Given the description of an element on the screen output the (x, y) to click on. 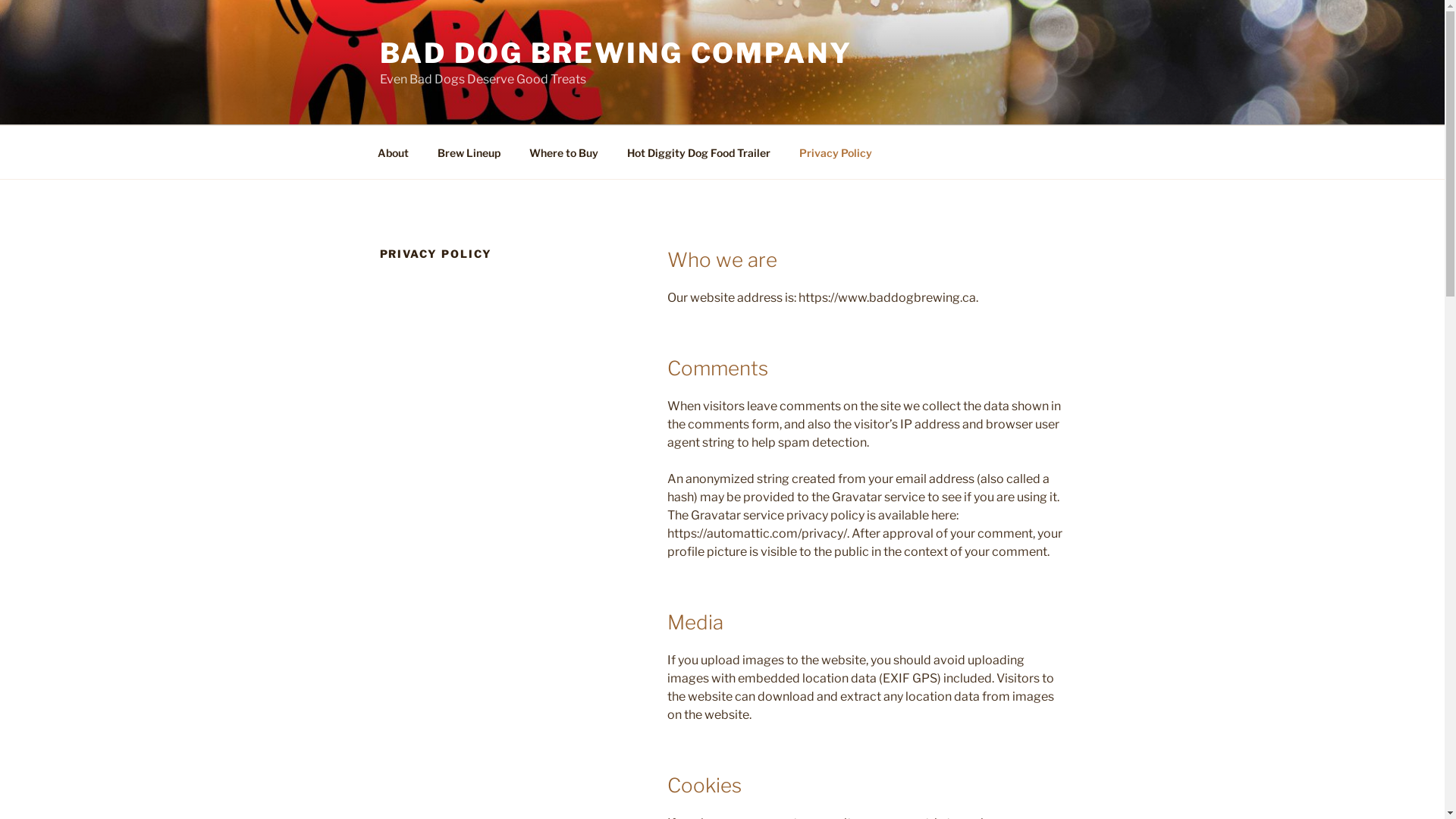
Brew Lineup Element type: text (469, 151)
Hot Diggity Dog Food Trailer Element type: text (699, 151)
Privacy Policy Element type: text (834, 151)
About Element type: text (392, 151)
BAD DOG BREWING COMPANY Element type: text (615, 52)
Where to Buy Element type: text (563, 151)
